Given the description of an element on the screen output the (x, y) to click on. 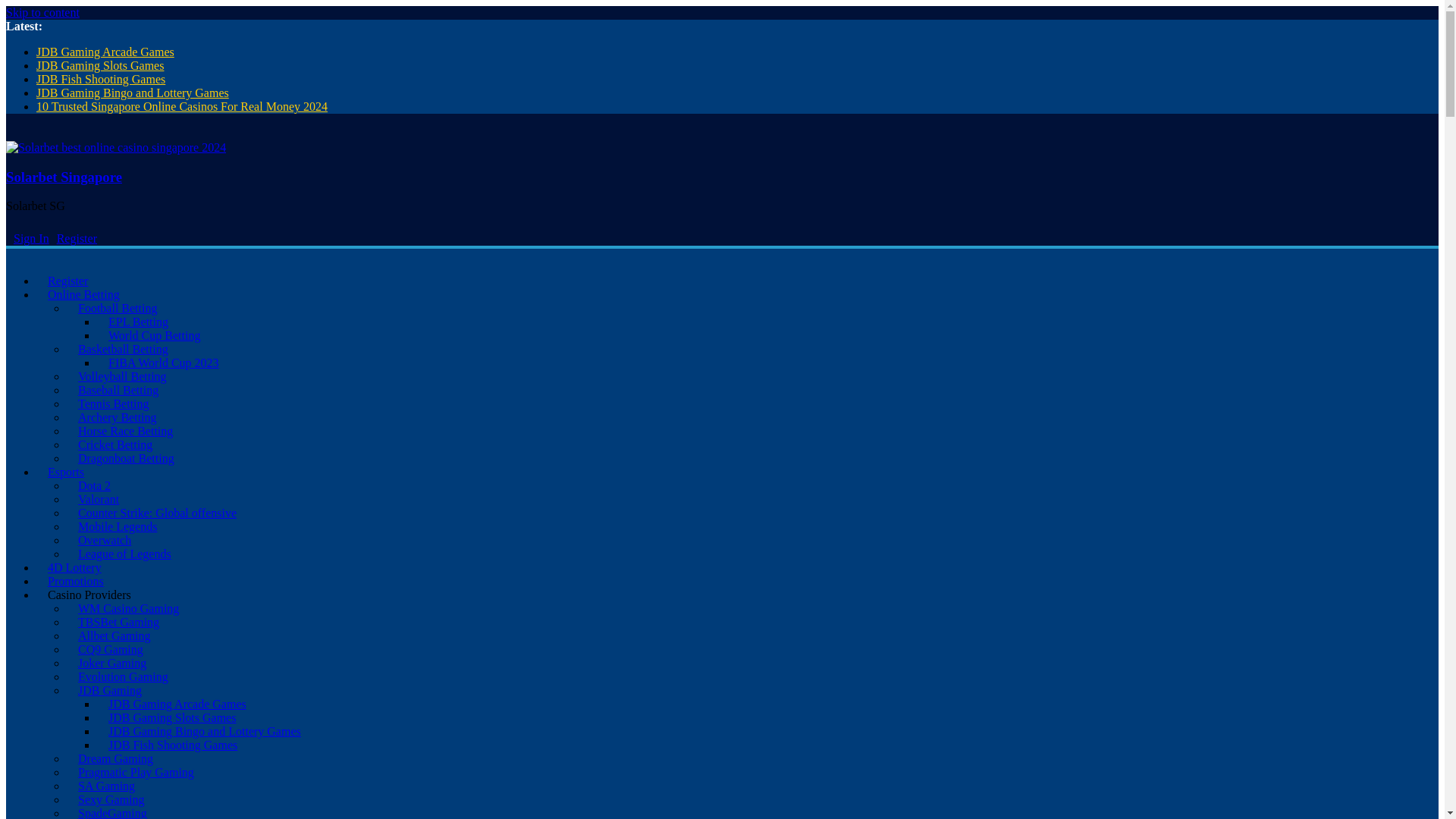
EPL Betting (138, 321)
Mobile Legends (117, 526)
Archery Betting (117, 417)
Esports (66, 471)
Sign In (31, 237)
Promotions (75, 581)
Casino Providers (89, 594)
Horse Race Betting (125, 430)
League of Legends (124, 553)
JDB Fish Shooting Games (100, 78)
